Given the description of an element on the screen output the (x, y) to click on. 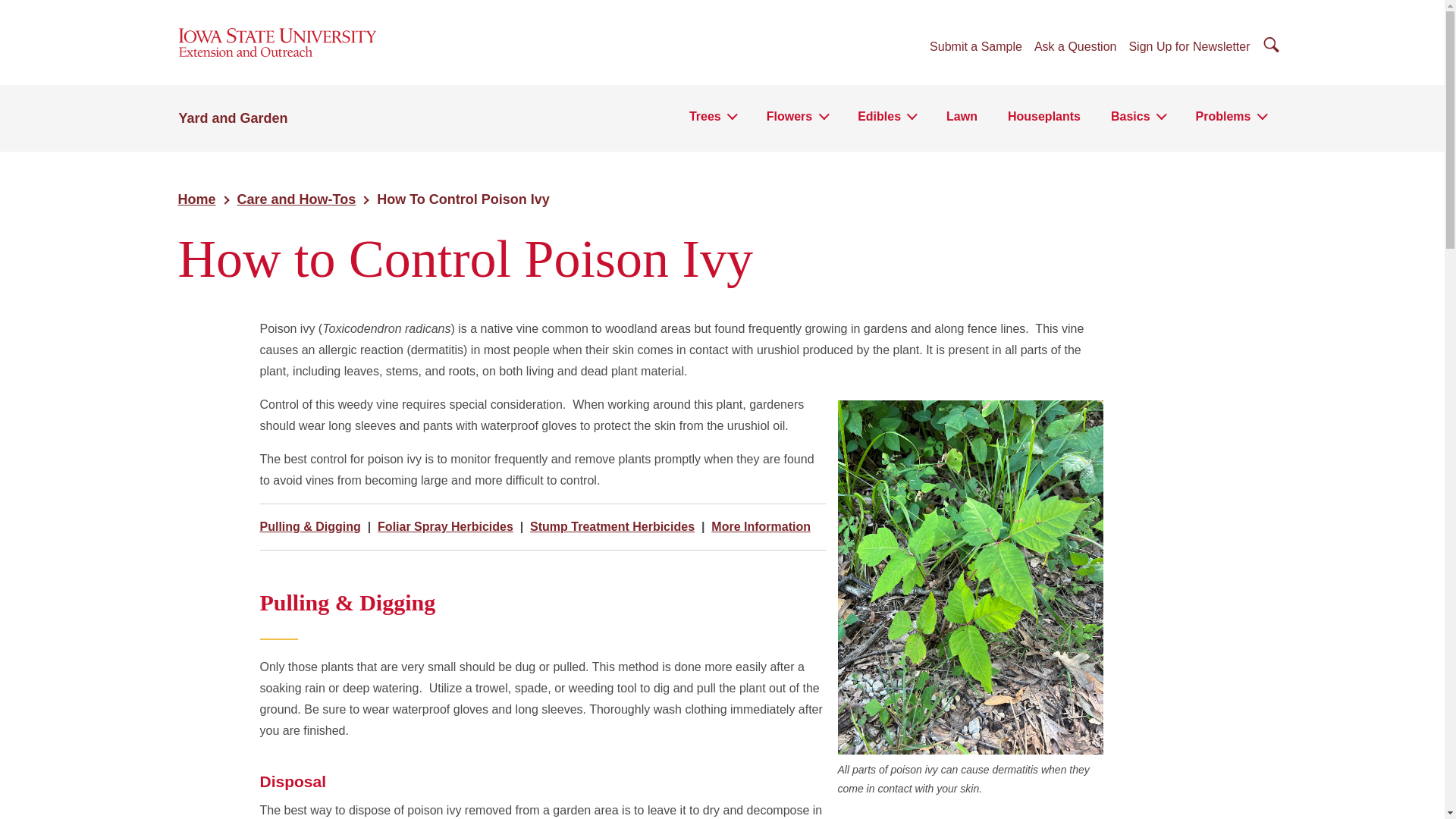
Submit a Sample (976, 48)
Search (14, 14)
Sign Up for Newsletter (1188, 48)
Ask a Question (1074, 48)
Yard and Garden (233, 118)
Lawn (961, 121)
Houseplants (1043, 121)
